Given the description of an element on the screen output the (x, y) to click on. 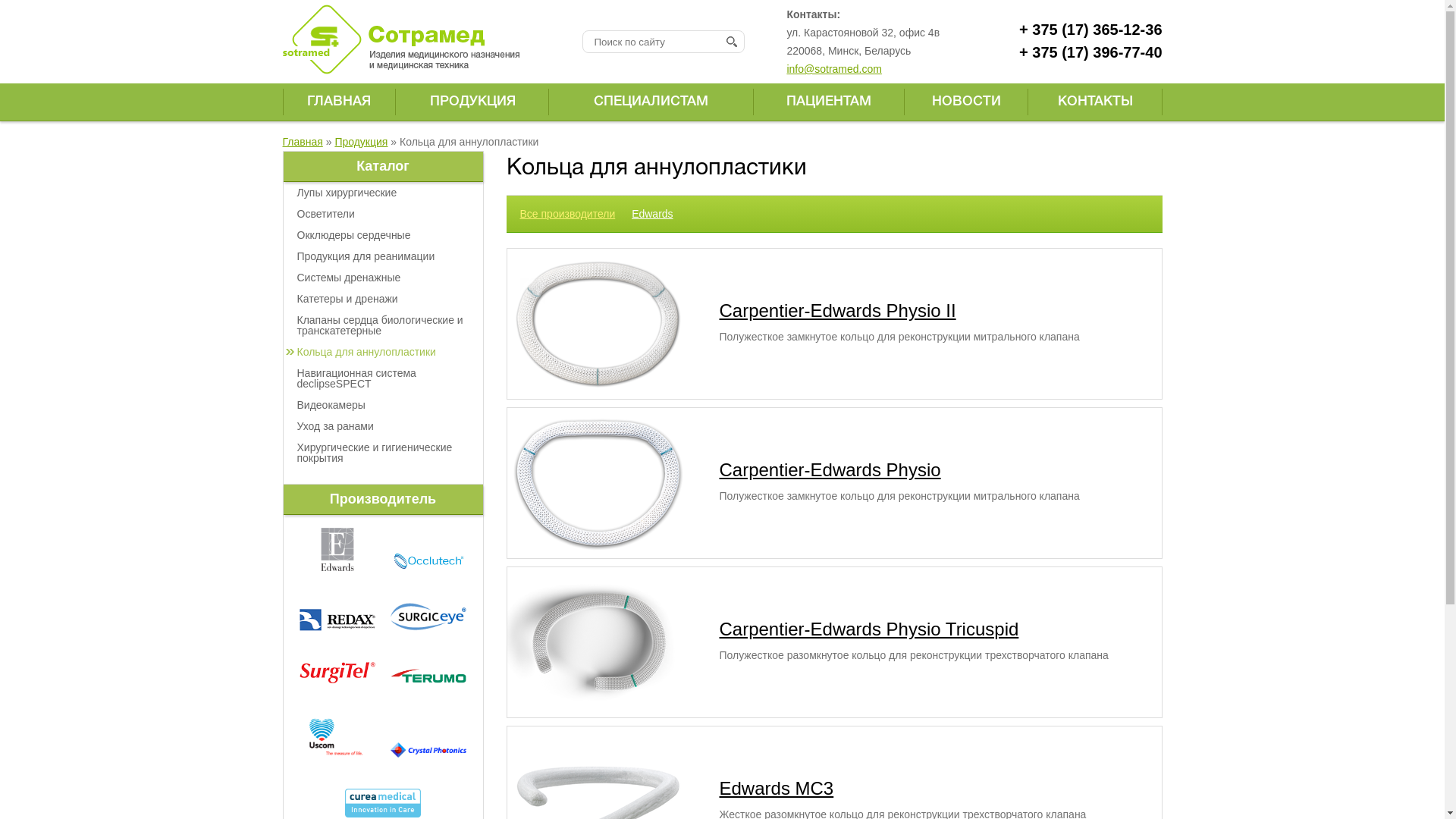
Carpentier-Edwards Physio II Element type: text (836, 310)
Carpentier-Edwards Physio Tricuspid Element type: text (868, 629)
Edwards Element type: text (651, 213)
Carpentier-Edwards Physio Element type: text (829, 470)
Edwards MC3 Element type: text (775, 788)
info@sotramed.com Element type: text (833, 68)
